Given the description of an element on the screen output the (x, y) to click on. 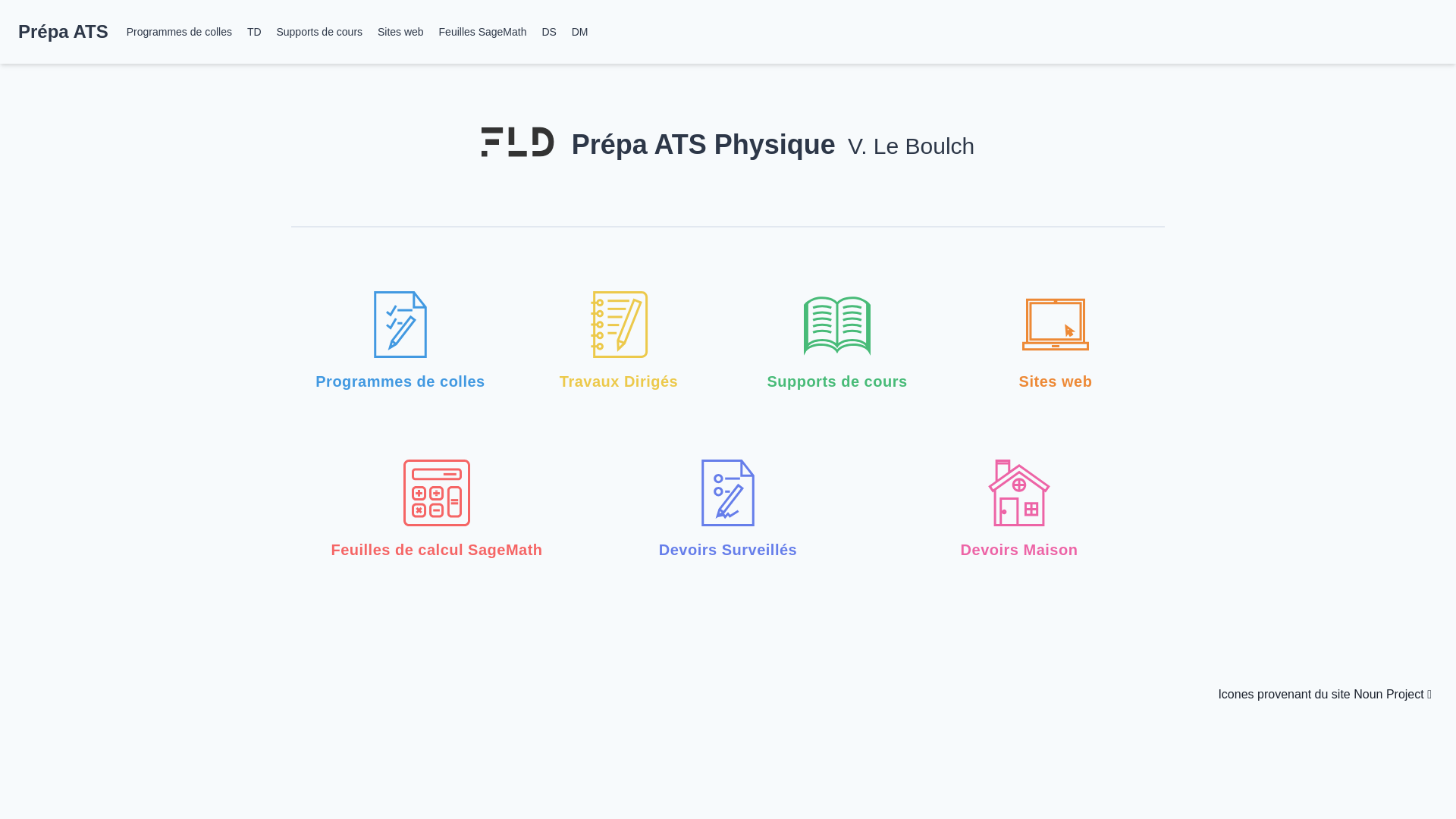
TD Element type: text (254, 32)
Supports de cours Element type: text (319, 32)
DS Element type: text (548, 32)
Feuilles de calcul SageMath Element type: text (436, 510)
Sites web Element type: text (400, 32)
Noun Project Element type: text (1392, 693)
Sites web Element type: text (1055, 341)
Feuilles SageMath Element type: text (483, 32)
Programmes de colles Element type: text (400, 341)
DM Element type: text (579, 32)
Programmes de colles Element type: text (179, 32)
Supports de cours Element type: text (837, 341)
Devoirs Maison Element type: text (1019, 510)
